Given the description of an element on the screen output the (x, y) to click on. 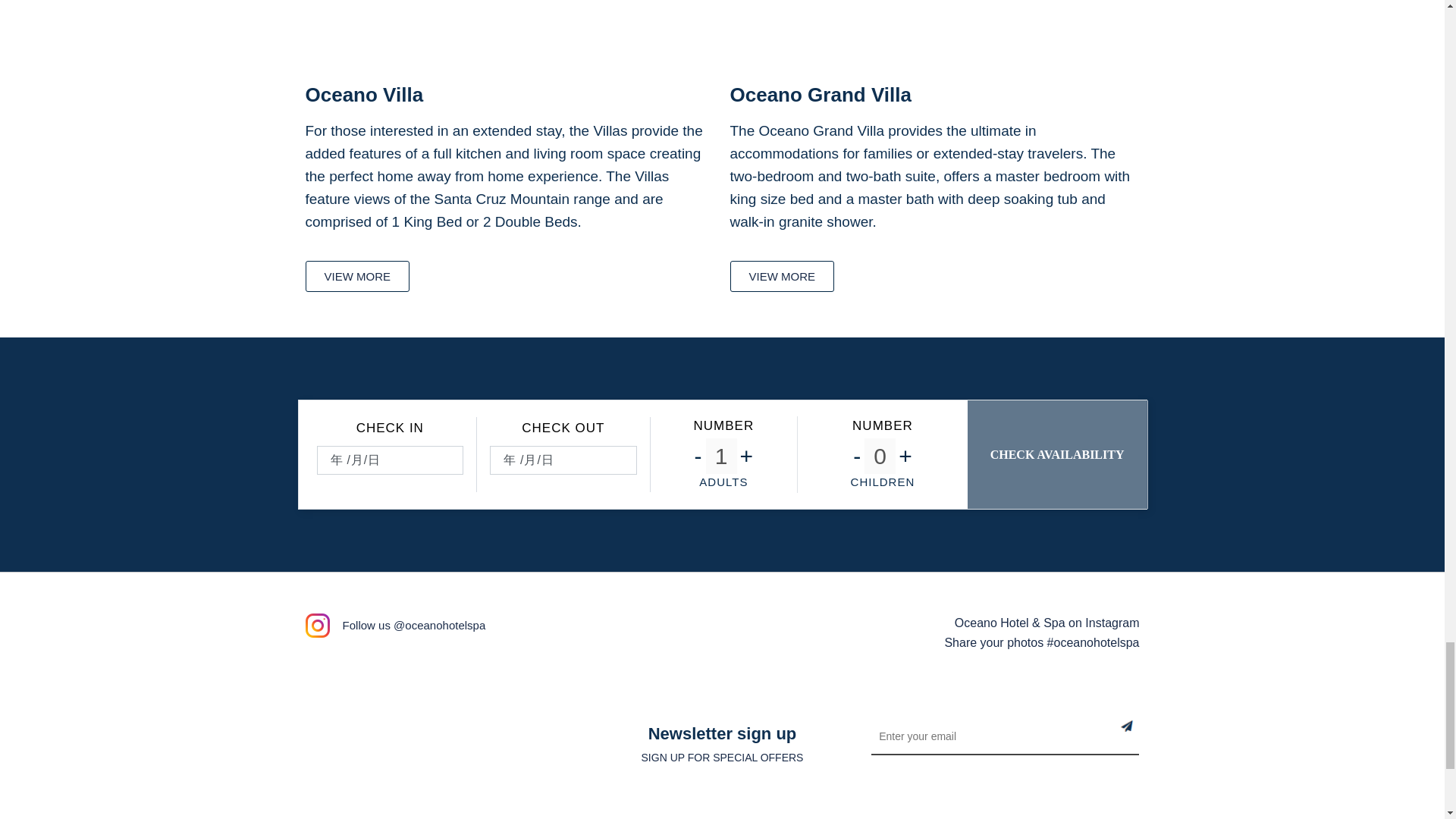
Check Availability (1058, 454)
VIEW MORE (781, 276)
Check Availability (1058, 454)
Subscribe (1139, 738)
VIEW MORE (356, 276)
Subscribe (1139, 738)
